Given the description of an element on the screen output the (x, y) to click on. 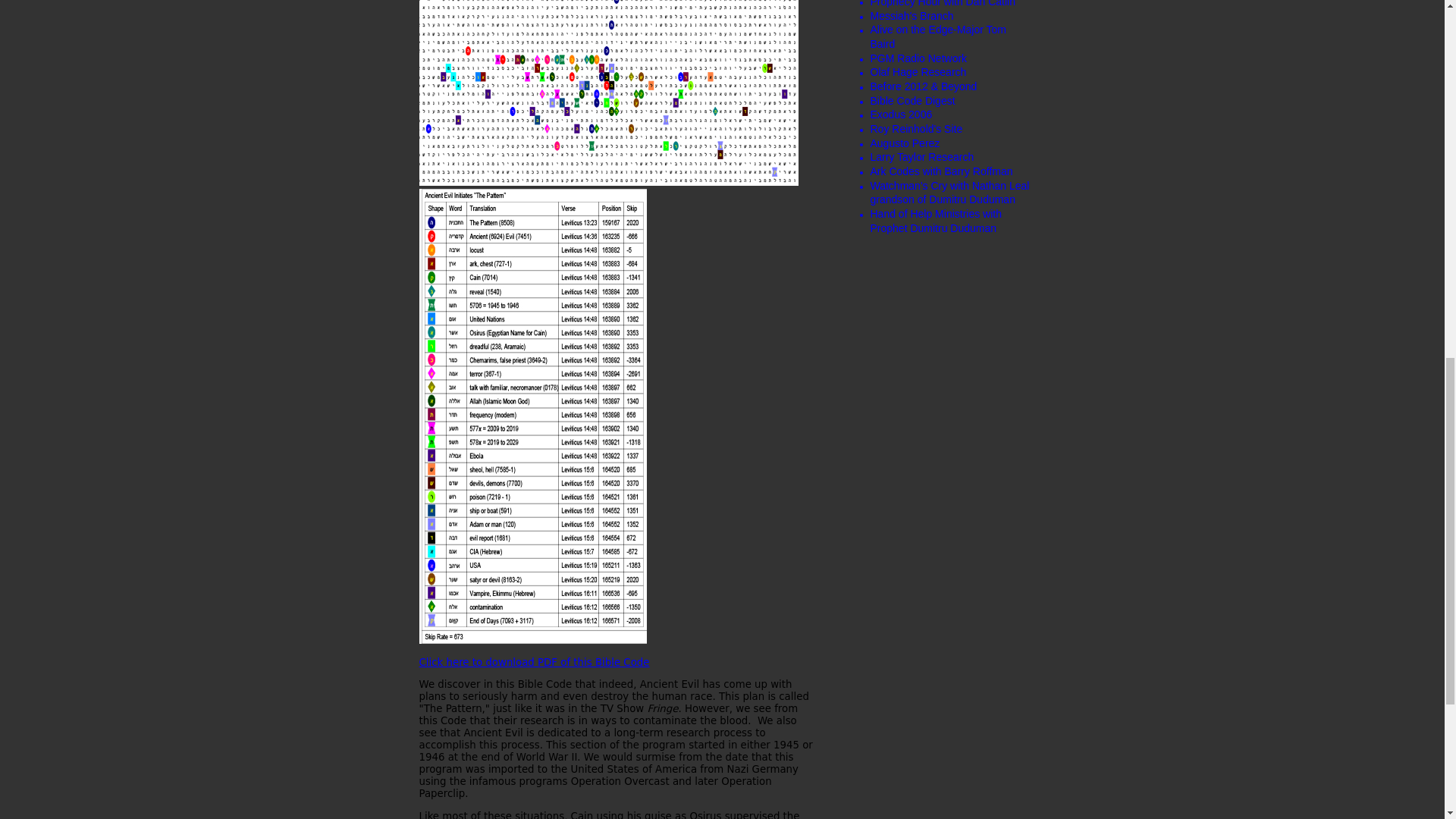
Prophecy Hour with Dan Catlin (942, 3)
Messiah's Branch (911, 15)
Alive on the Edge-Major Tom Baird (938, 36)
Click here to download PDF of this Bible Code (534, 662)
